Given the description of an element on the screen output the (x, y) to click on. 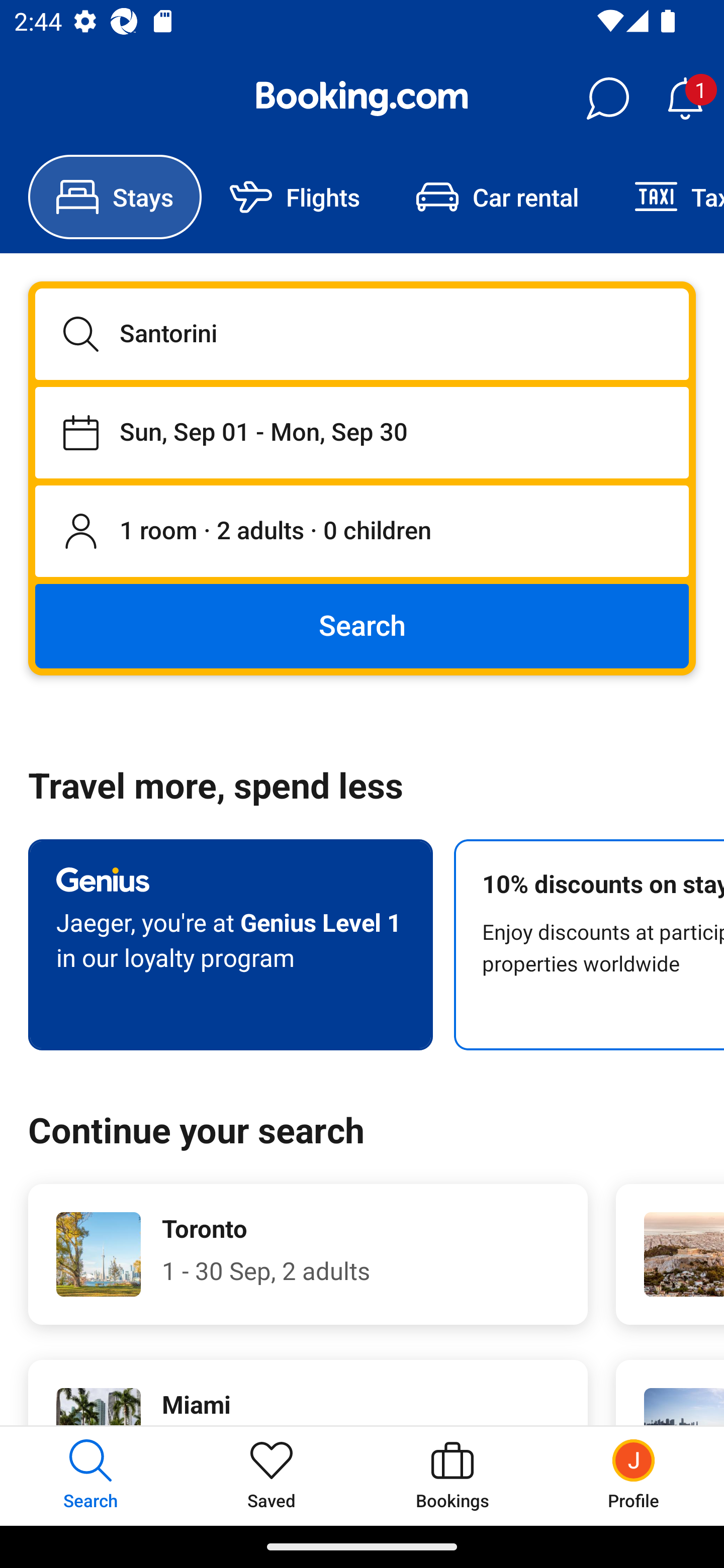
Messages (607, 98)
Notifications (685, 98)
Stays (114, 197)
Flights (294, 197)
Car rental (497, 197)
Taxi (665, 197)
Santorini (361, 333)
Staying from Sun, Sep 01 until Mon, Sep 30 (361, 432)
1 room, 2 adults, 0 children (361, 531)
Search (361, 625)
Toronto 1 - 30 Sep, 2 adults (307, 1253)
Saved (271, 1475)
Bookings (452, 1475)
Profile (633, 1475)
